Given the description of an element on the screen output the (x, y) to click on. 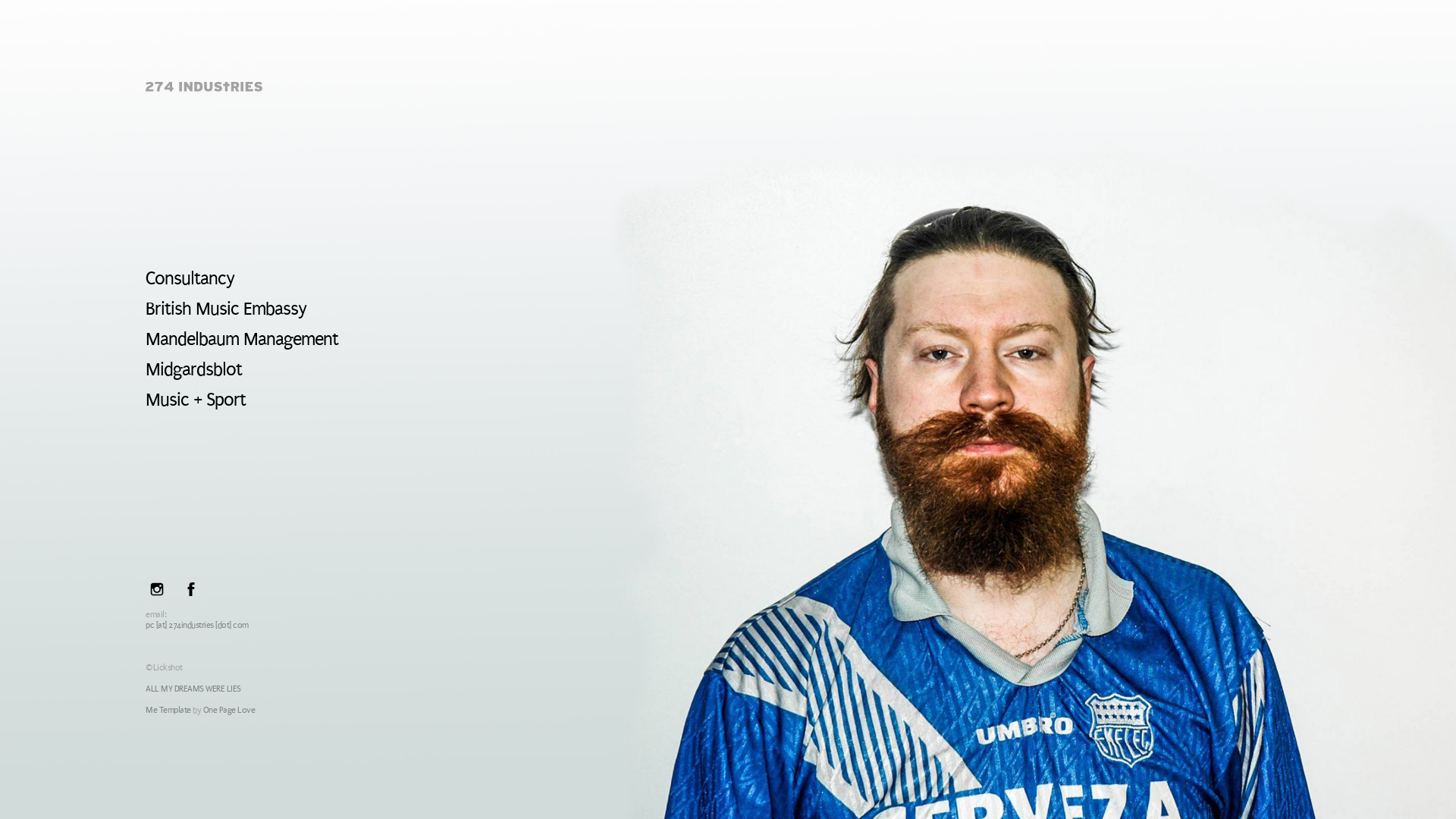
Music + Sport Element type: text (195, 399)
pc [at] 274industries [dot] com Element type: text (196, 625)
British Music Embassy Element type: text (225, 308)
Consultancy Element type: text (189, 277)
ALL MY DREAMS WERE LIES Element type: text (193, 688)
One Page Love Element type: text (229, 710)
Midgardsblot Element type: text (193, 368)
Me Template Element type: text (168, 710)
Mandelbaum Management Element type: text (241, 338)
